Given the description of an element on the screen output the (x, y) to click on. 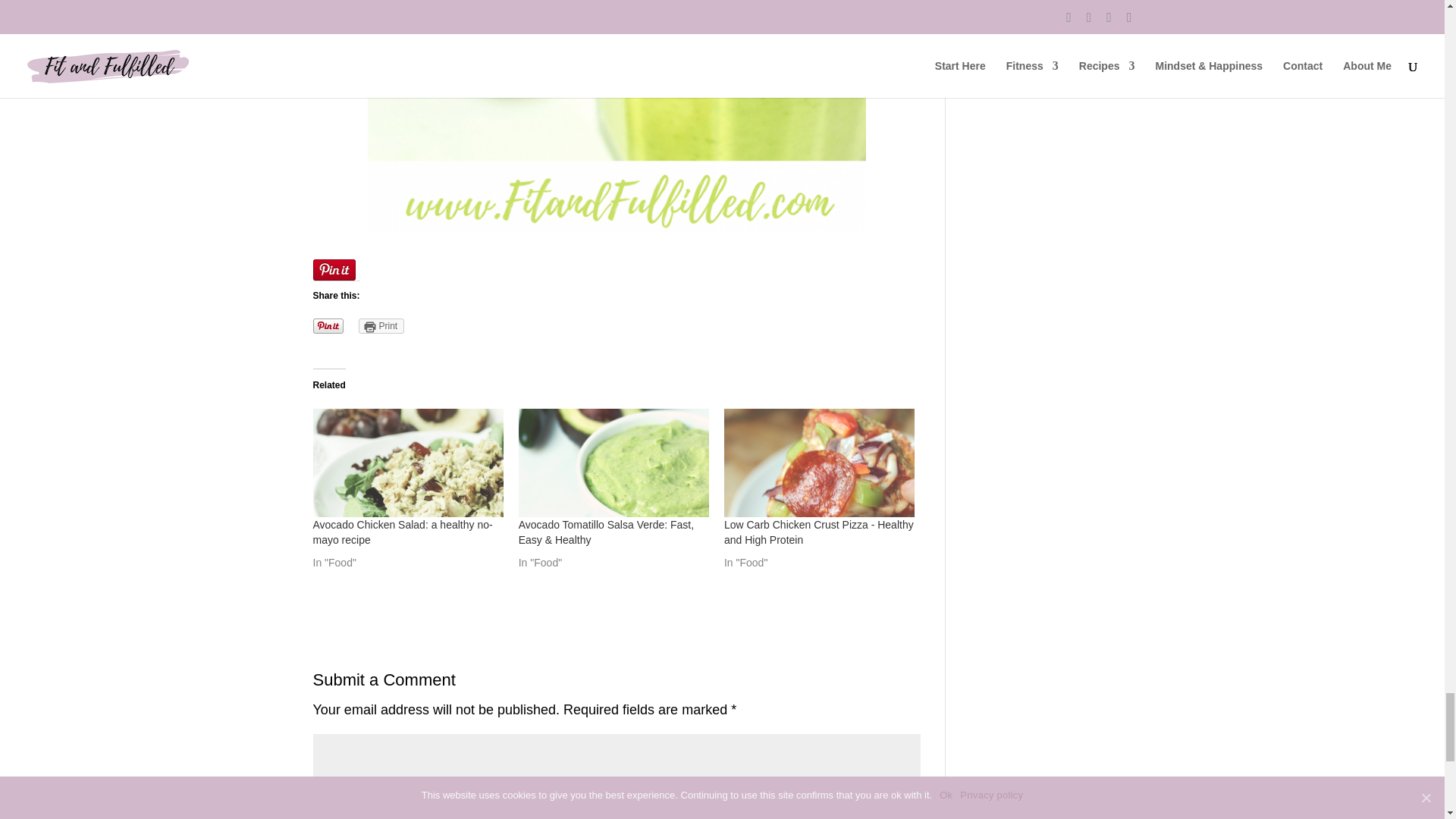
Avocado Chicken Salad: a healthy no-mayo recipe (402, 532)
Click to print (381, 325)
Low Carb Chicken Crust Pizza - Healthy and High Protein (818, 532)
